Given the description of an element on the screen output the (x, y) to click on. 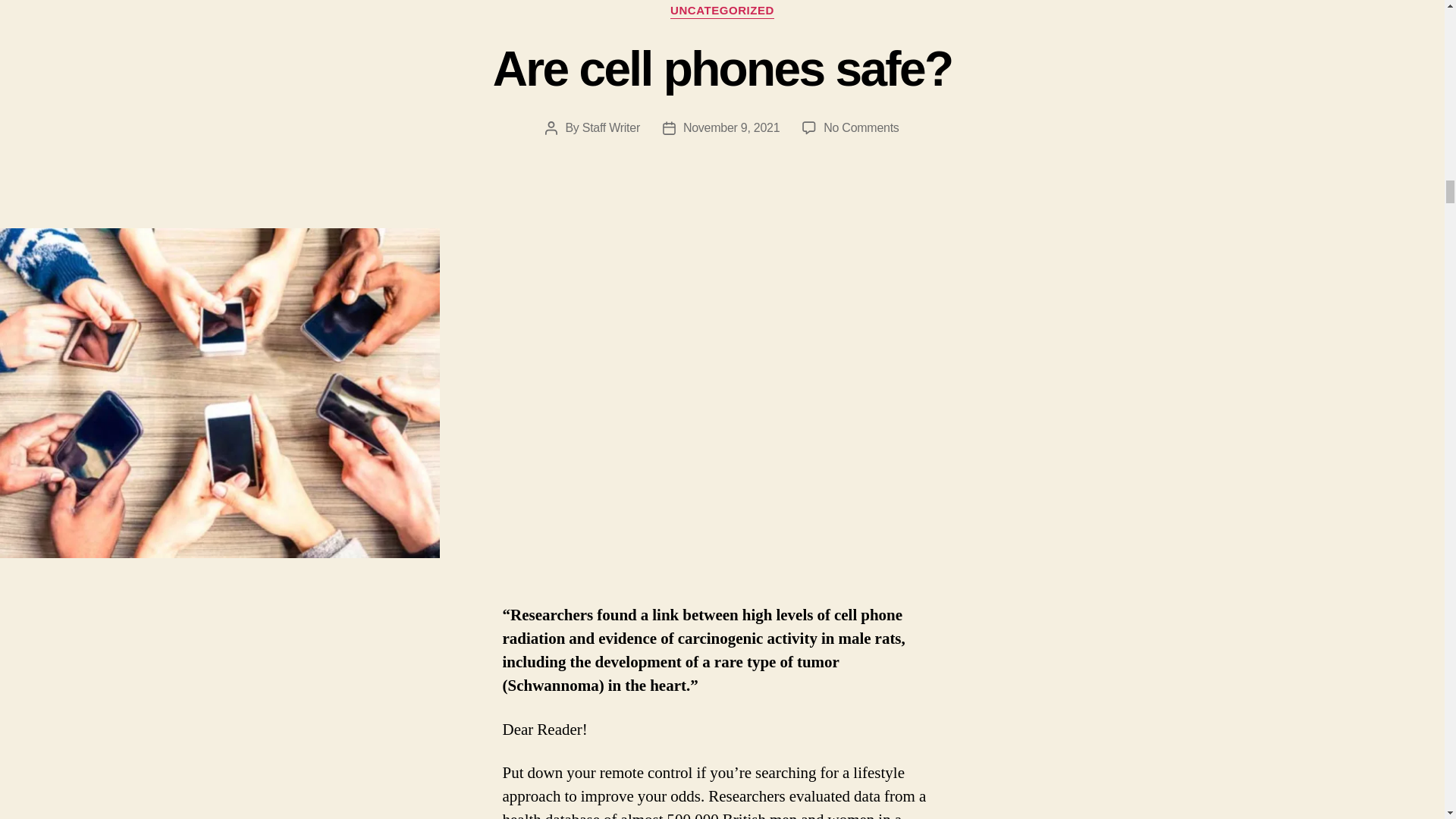
UNCATEGORIZED (721, 11)
Are cell phones safe? (722, 68)
November 9, 2021 (861, 127)
Staff Writer (730, 127)
